Given the description of an element on the screen output the (x, y) to click on. 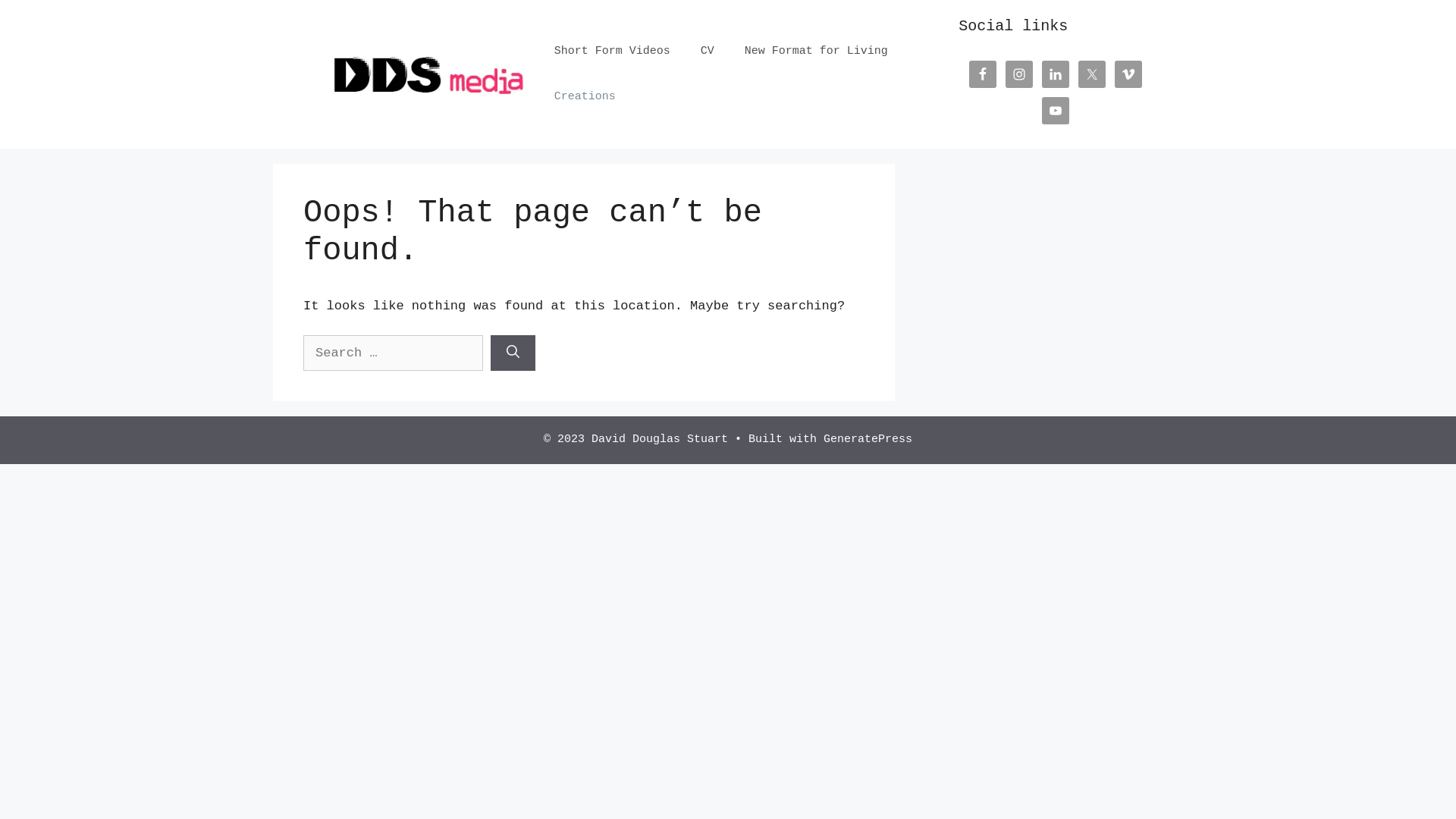
New Format for Living Element type: text (816, 51)
CV Element type: text (707, 51)
Search for: Element type: hover (393, 353)
Short Form Videos Element type: text (612, 51)
GeneratePress Element type: text (867, 439)
Creations Element type: text (584, 96)
